Given the description of an element on the screen output the (x, y) to click on. 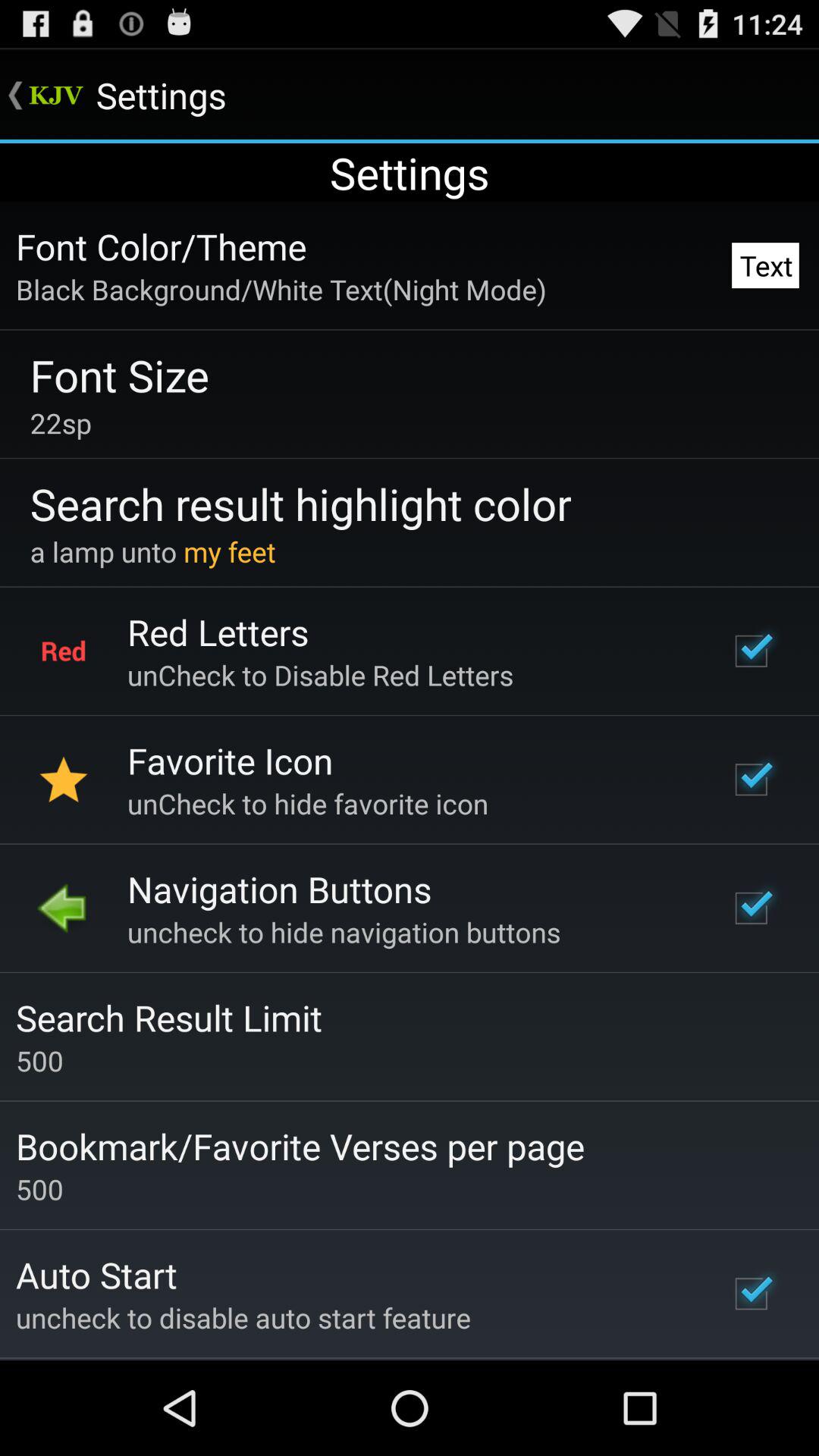
jump until the bookmark favorite verses app (299, 1146)
